Given the description of an element on the screen output the (x, y) to click on. 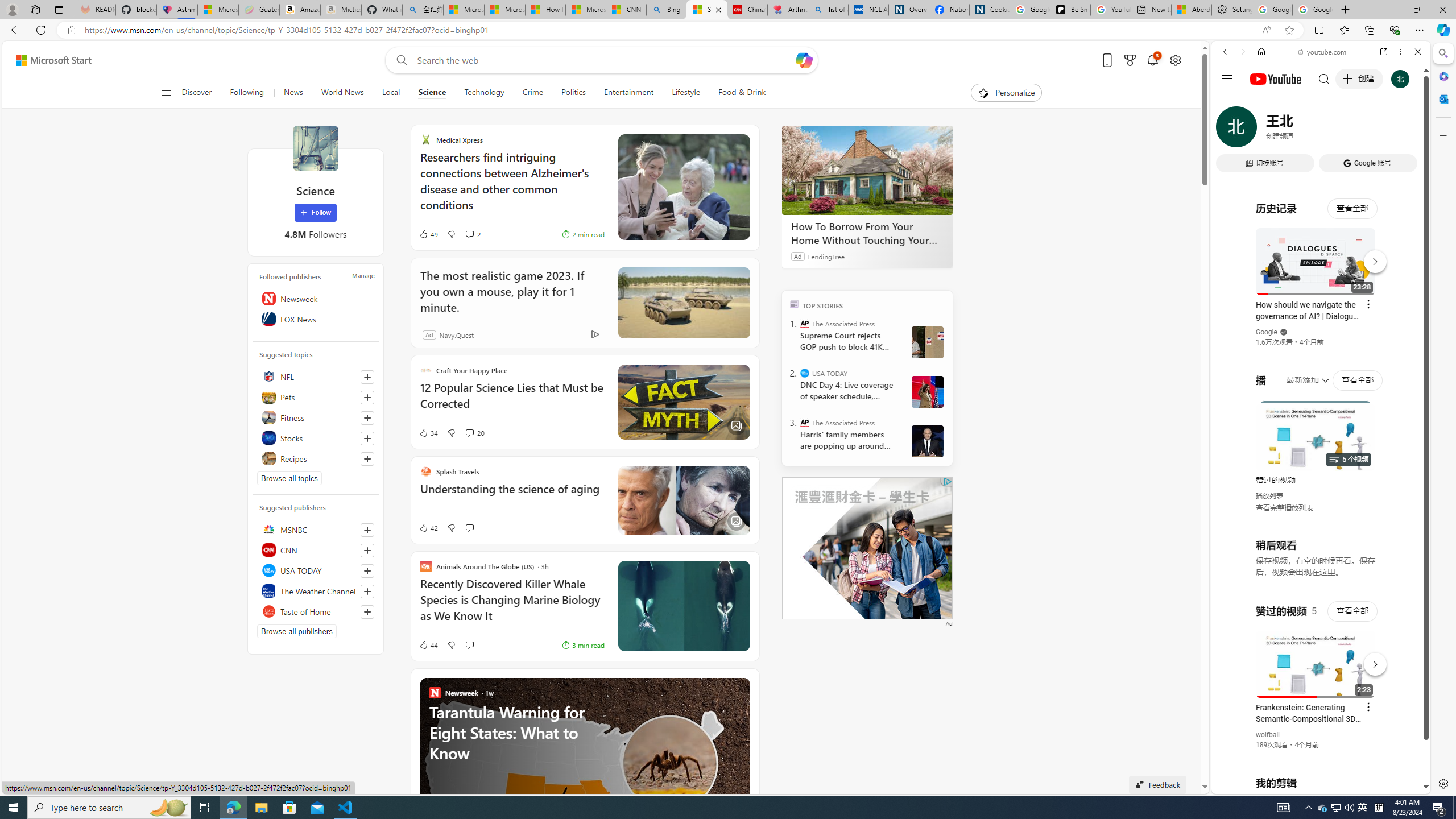
Asthma Inhalers: Names and Types (176, 9)
Science (314, 148)
Restore (1416, 9)
YouTube - YouTube (1315, 560)
Food & Drink (741, 92)
Click to scroll right (1407, 456)
Skip to footer (46, 59)
Settings (1442, 783)
Credit: Andrea Piacquadio from Pexels (683, 187)
